Given the description of an element on the screen output the (x, y) to click on. 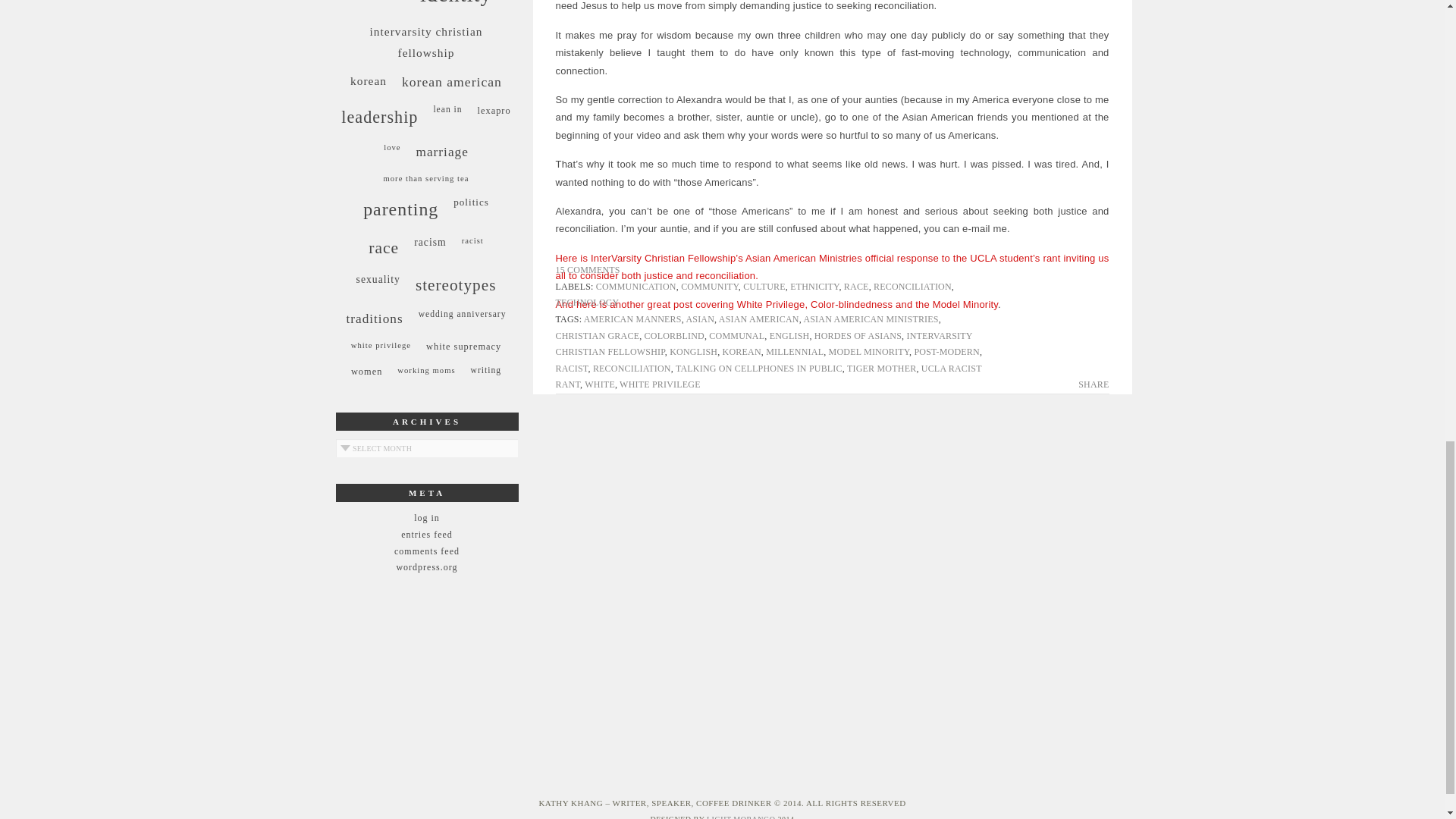
MILLENNIAL (794, 351)
COMMUNICATION (636, 286)
HORDES OF ASIANS (857, 335)
WHITE (599, 384)
RECONCILIATION (912, 286)
RACIST (571, 368)
ASIAN AMERICAN (759, 318)
CHRISTIAN GRACE (596, 335)
UCLA RACIST RANT (767, 376)
ETHNICITY (814, 286)
